Given the description of an element on the screen output the (x, y) to click on. 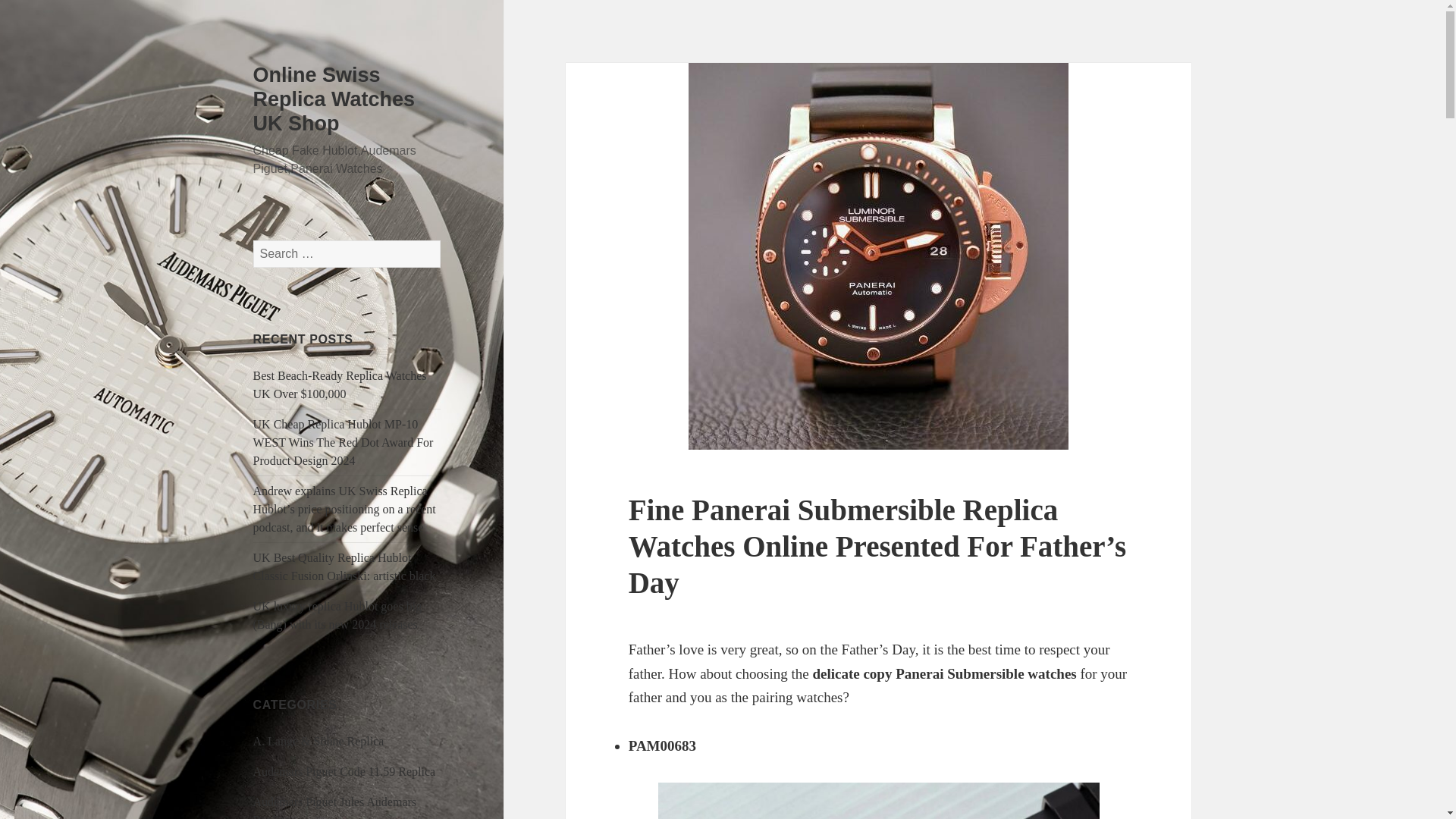
Audemars Piguet Jules Audemars Replica (334, 807)
Online Swiss Replica Watches UK Shop (333, 99)
Audemars Piguet Code 11.59 Replica (344, 771)
